Given the description of an element on the screen output the (x, y) to click on. 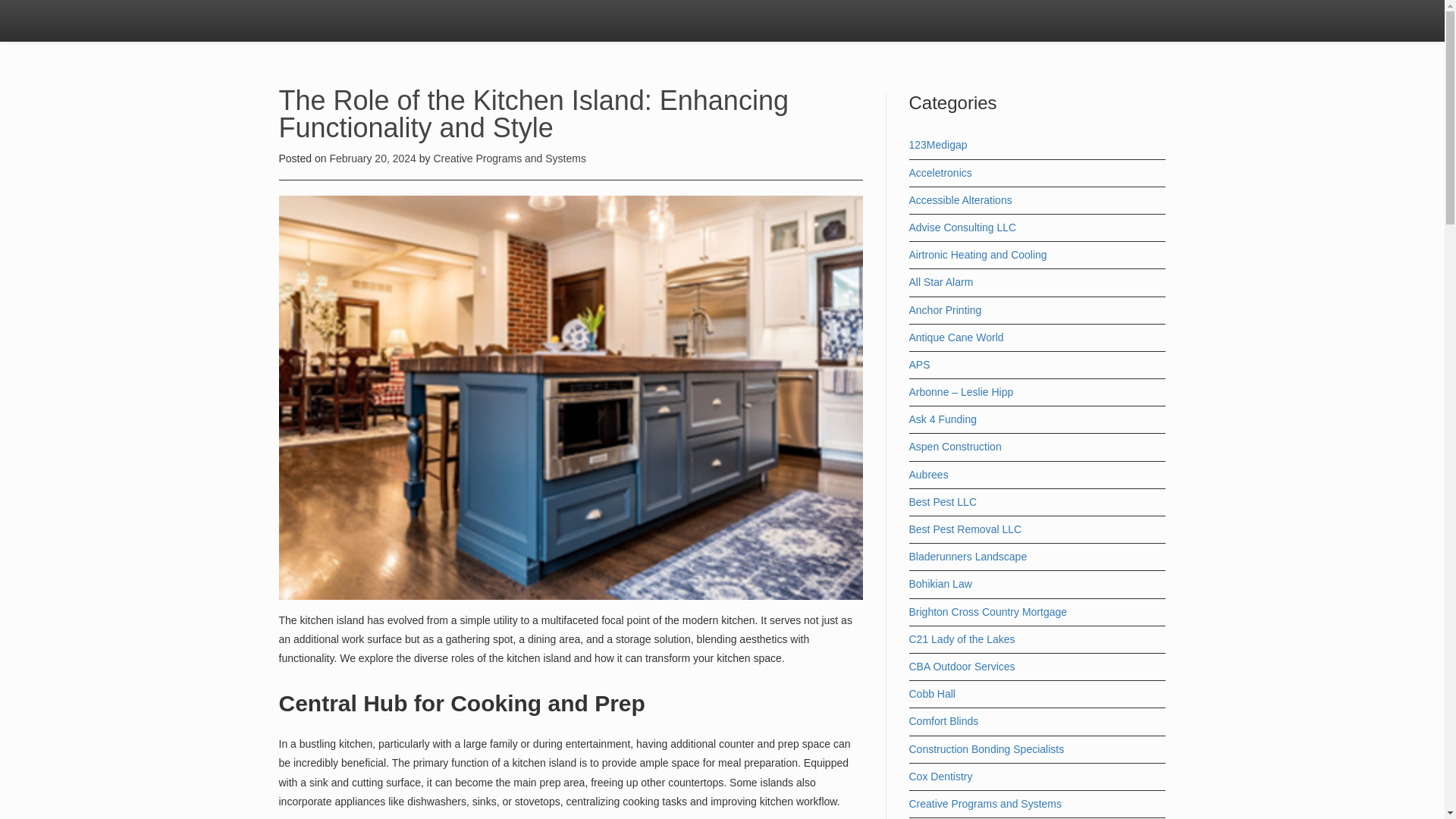
3:05 pm (374, 158)
Brighton Cross Country Mortgage (987, 612)
Cobb Hall (931, 693)
Creative Programs and Systems (509, 158)
Best Pest Removal LLC (965, 529)
123Medigap (937, 144)
Ask 4 Funding (942, 419)
Aubrees (927, 474)
Comfort Blinds (943, 720)
APS (919, 364)
